Given the description of an element on the screen output the (x, y) to click on. 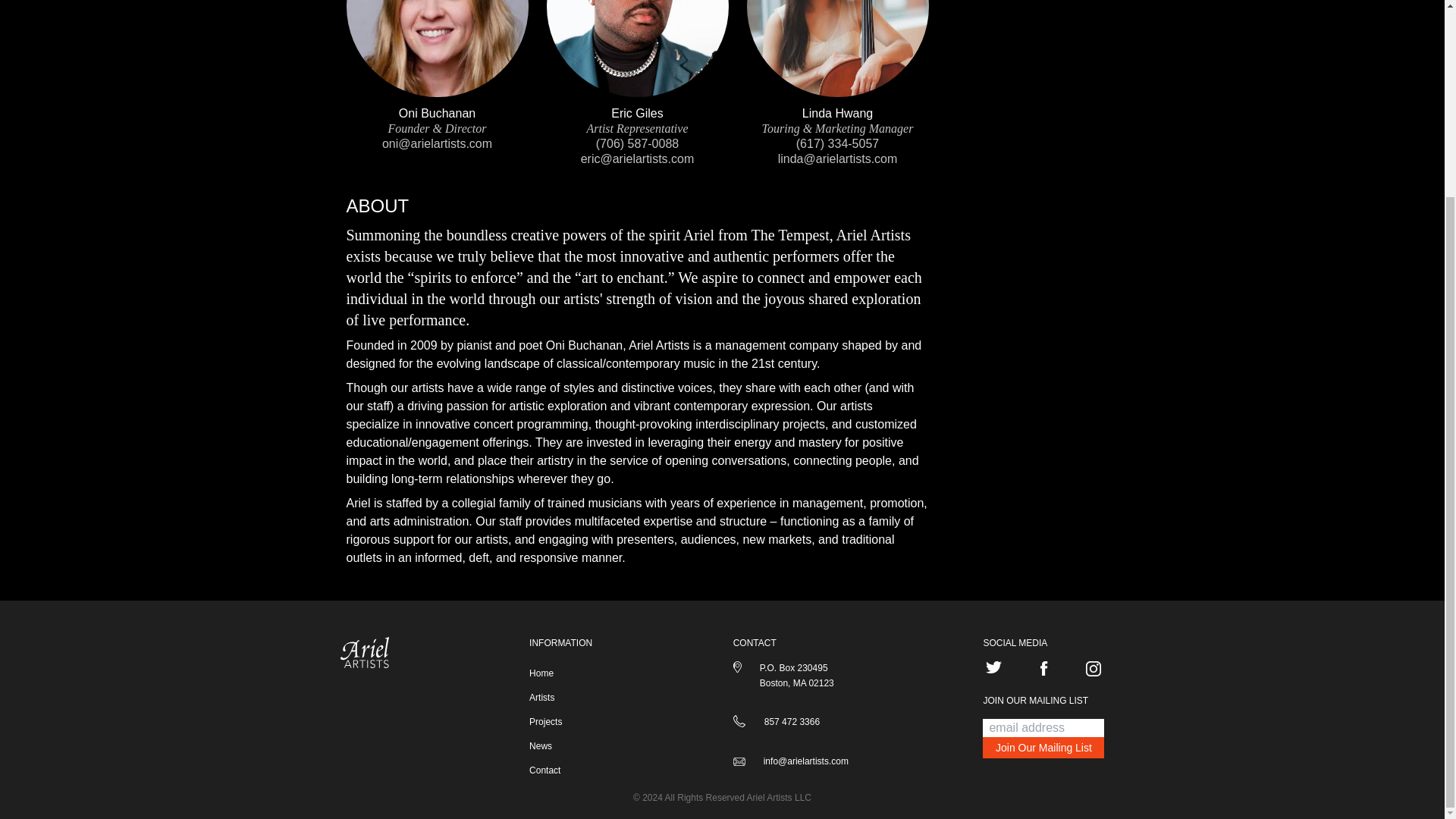
Contact (560, 770)
Home (560, 673)
News (560, 746)
Join Our Mailing List (1042, 747)
Projects (560, 721)
Join Our Mailing List (1042, 747)
Artists (560, 697)
